Given the description of an element on the screen output the (x, y) to click on. 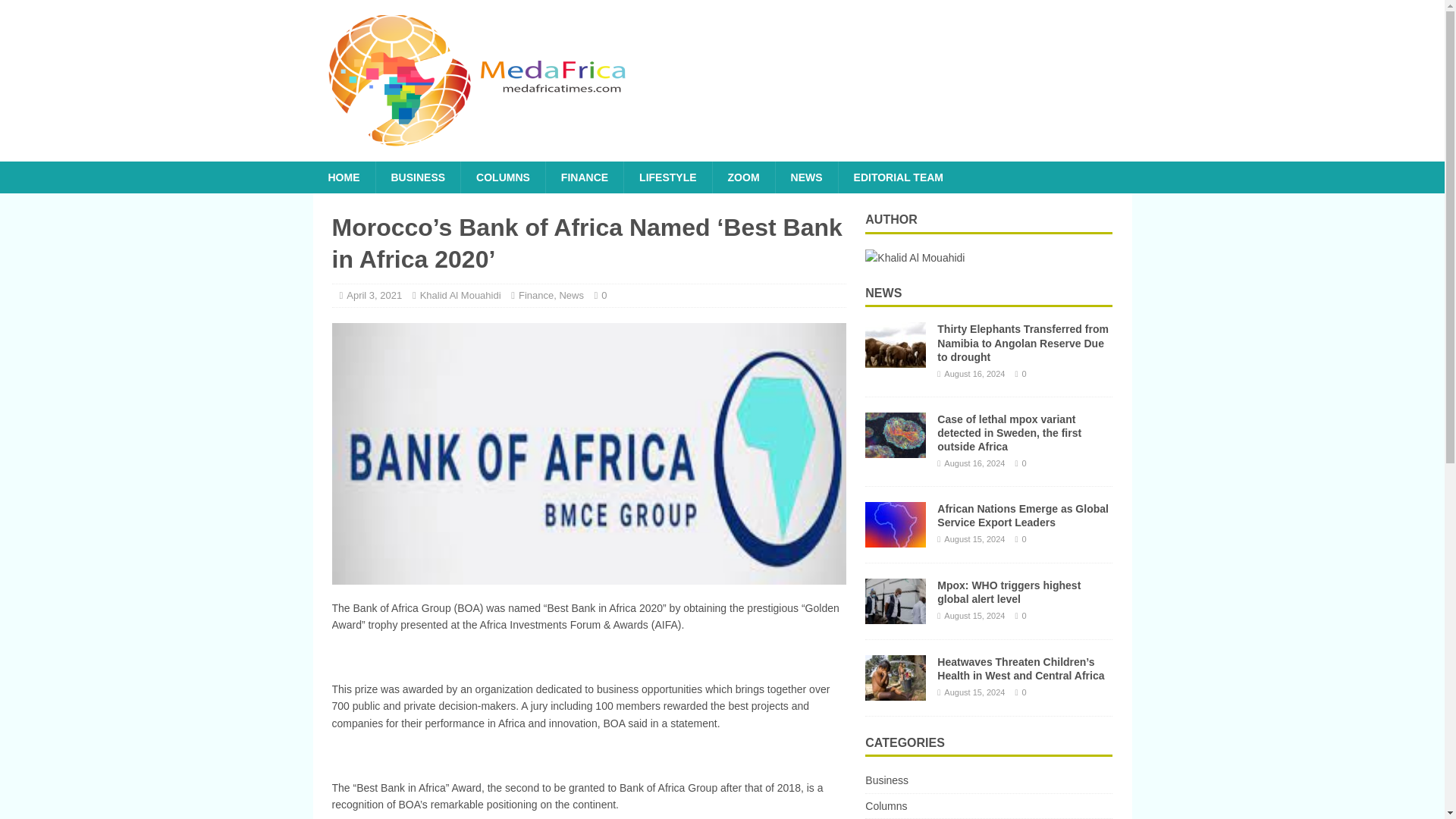
EDITORIAL TEAM (898, 177)
LIFESTYLE (667, 177)
ZOOM (742, 177)
NEWS (882, 292)
April 3, 2021 (373, 295)
NEWS (806, 177)
News (571, 295)
